Given the description of an element on the screen output the (x, y) to click on. 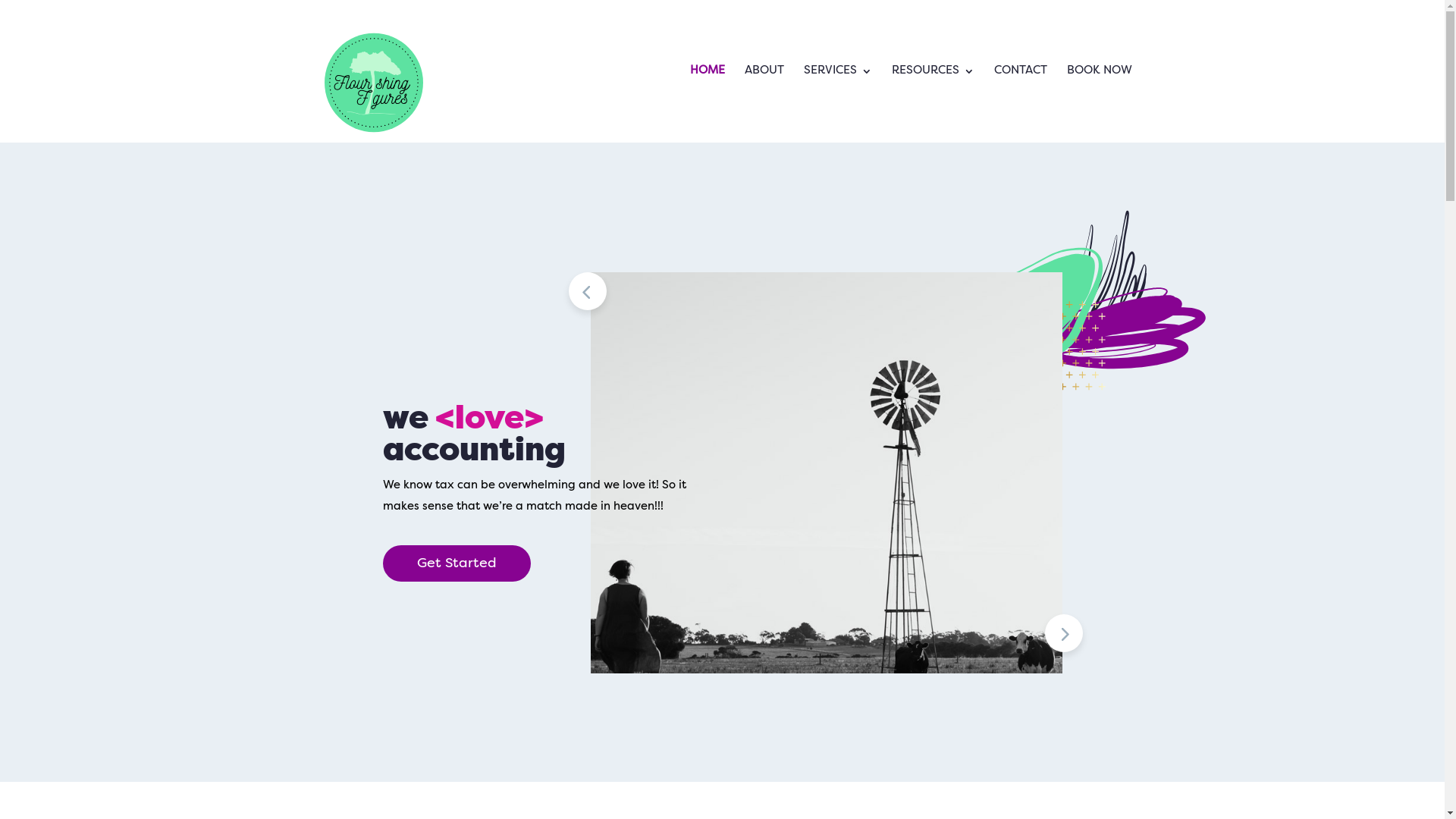
Get Started Element type: text (456, 563)
HOME Element type: text (707, 103)
ABOUT Element type: text (764, 103)
RESOURCES Element type: text (932, 103)
SERVICES Element type: text (837, 103)
CONTACT Element type: text (1019, 103)
BOOK NOW Element type: text (1098, 103)
